Given the description of an element on the screen output the (x, y) to click on. 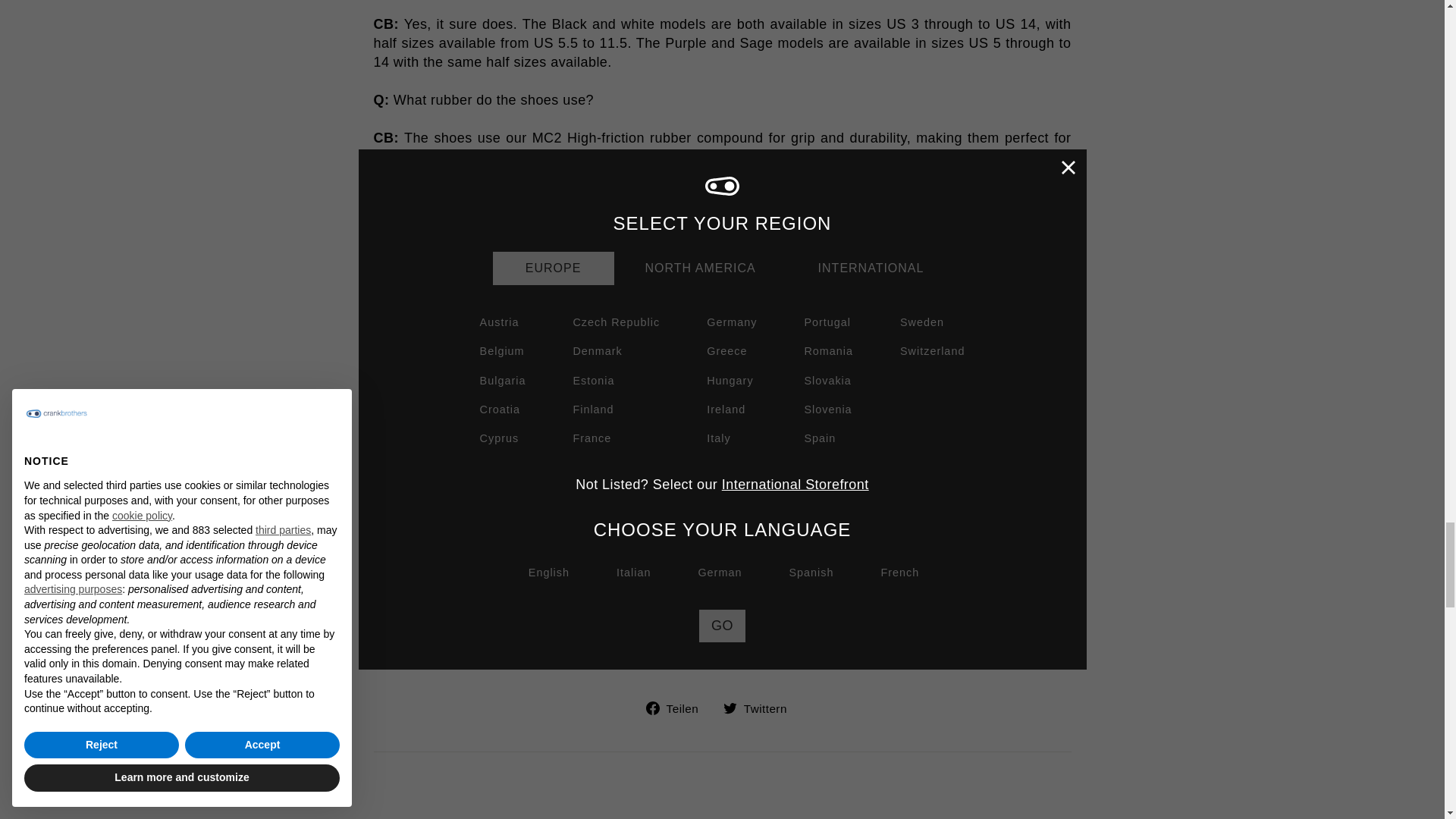
Auf Facebook teilen (678, 707)
Auf Twitter twittern (760, 707)
